Given the description of an element on the screen output the (x, y) to click on. 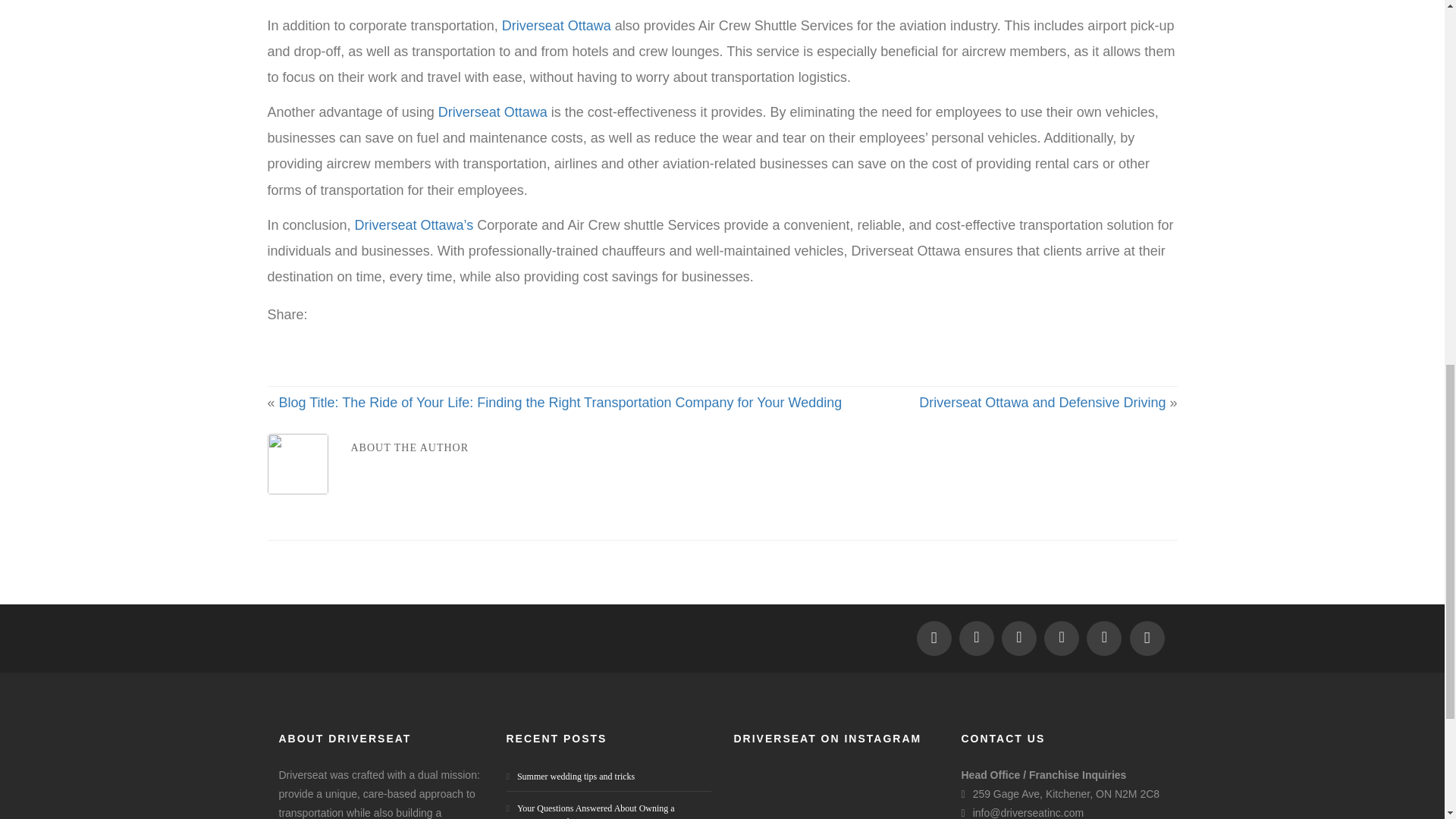
Driverseat Ottawa (492, 111)
Driverseat Ottawa (556, 25)
